Given the description of an element on the screen output the (x, y) to click on. 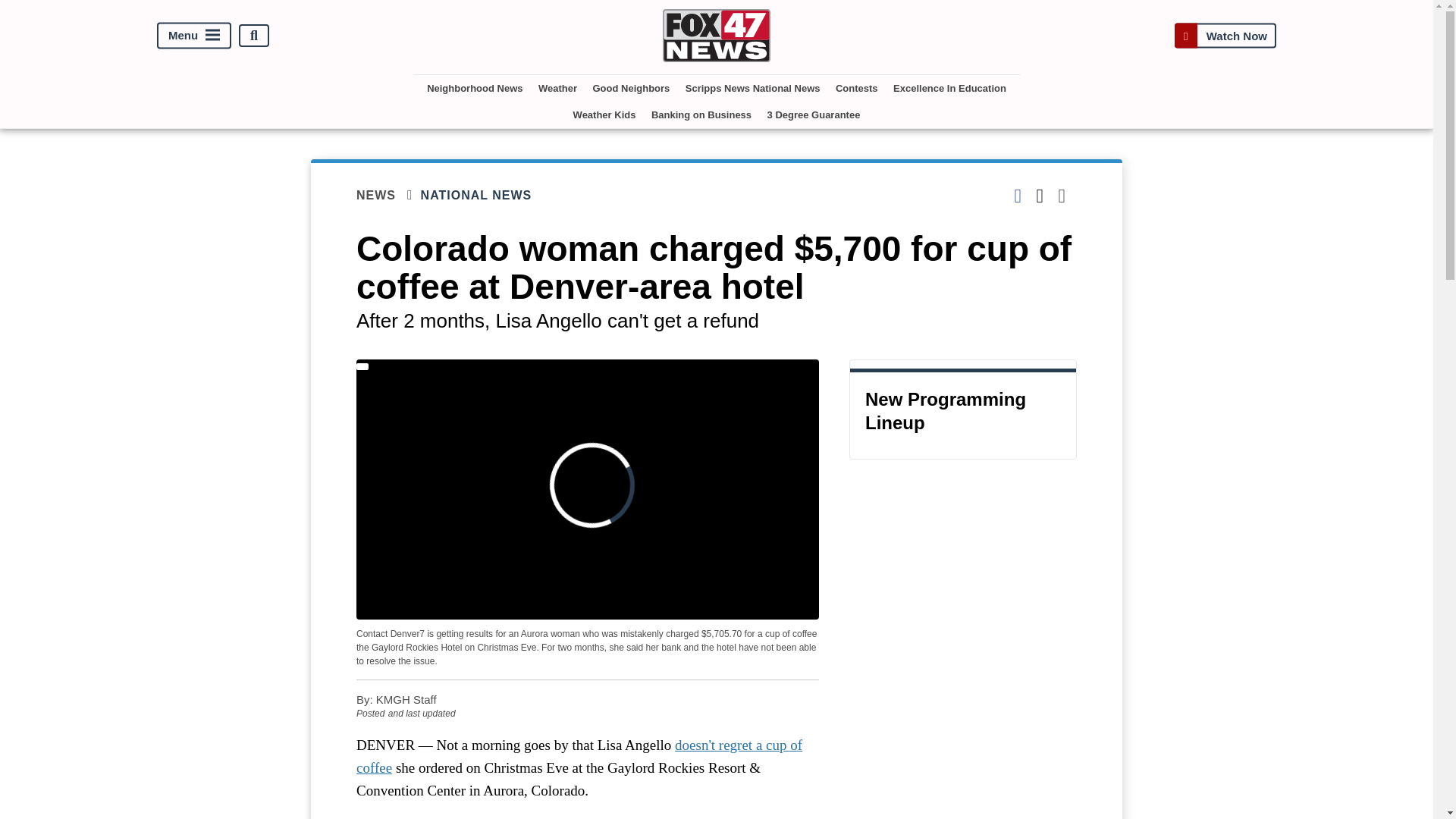
Watch Now (1224, 34)
Menu (194, 35)
